Given the description of an element on the screen output the (x, y) to click on. 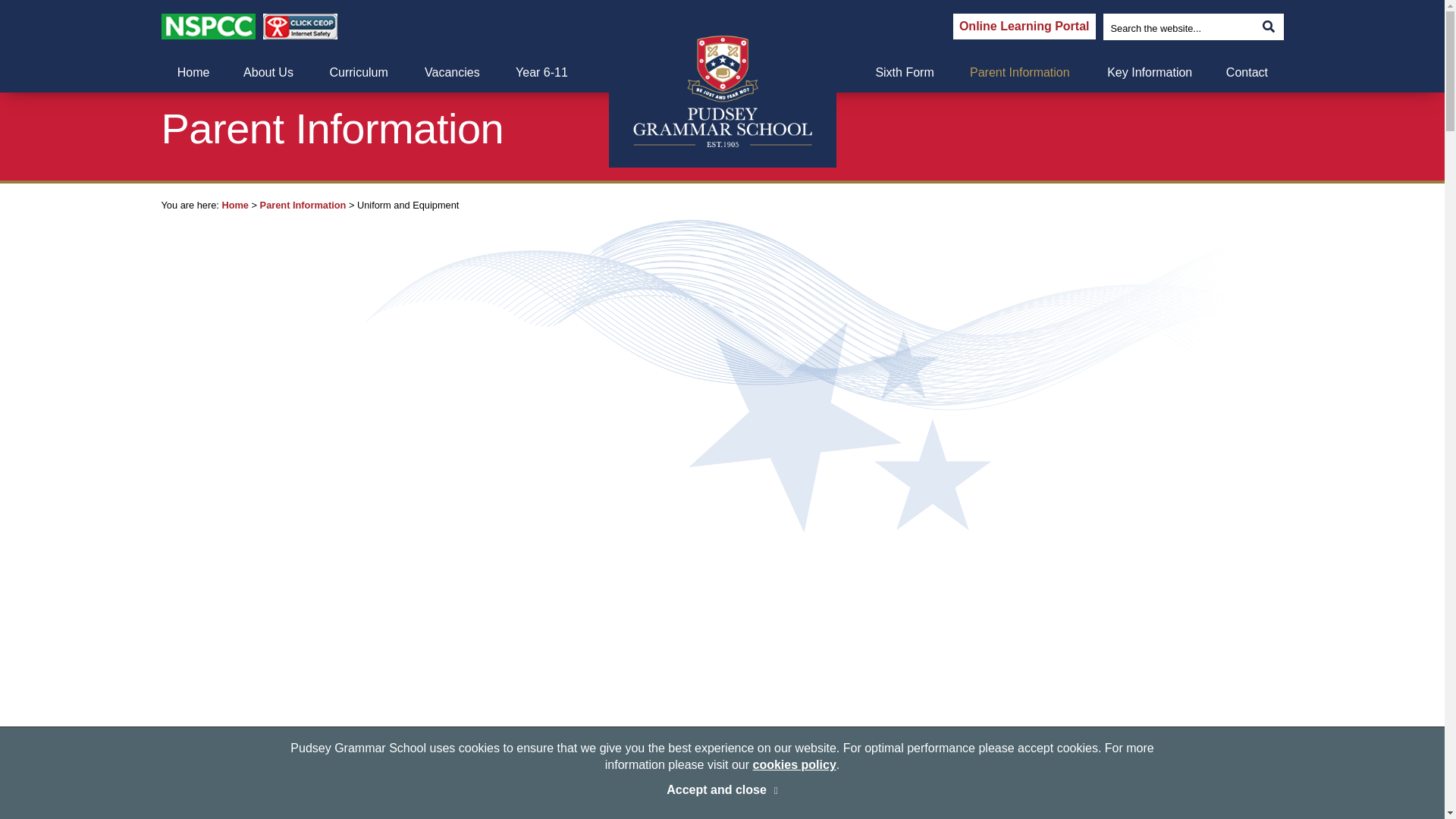
About Us (268, 72)
Home (192, 72)
Vacancies (451, 72)
Year 6-11 (541, 72)
Pudsey Grammar School (721, 91)
Online Learning Portal (1024, 26)
Curriculum (358, 72)
